Given the description of an element on the screen output the (x, y) to click on. 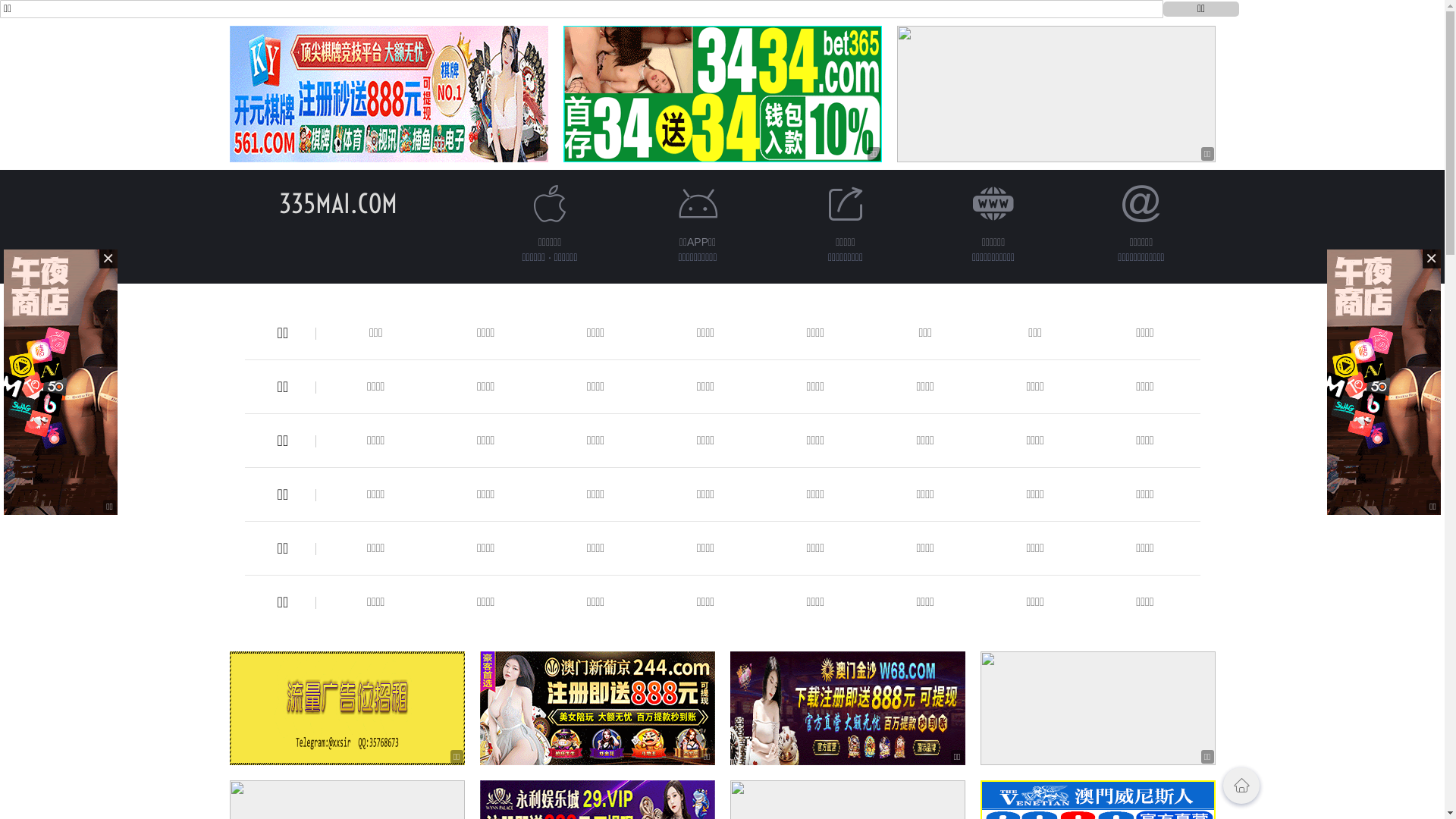
335MAI.COM Element type: text (338, 203)
